Given the description of an element on the screen output the (x, y) to click on. 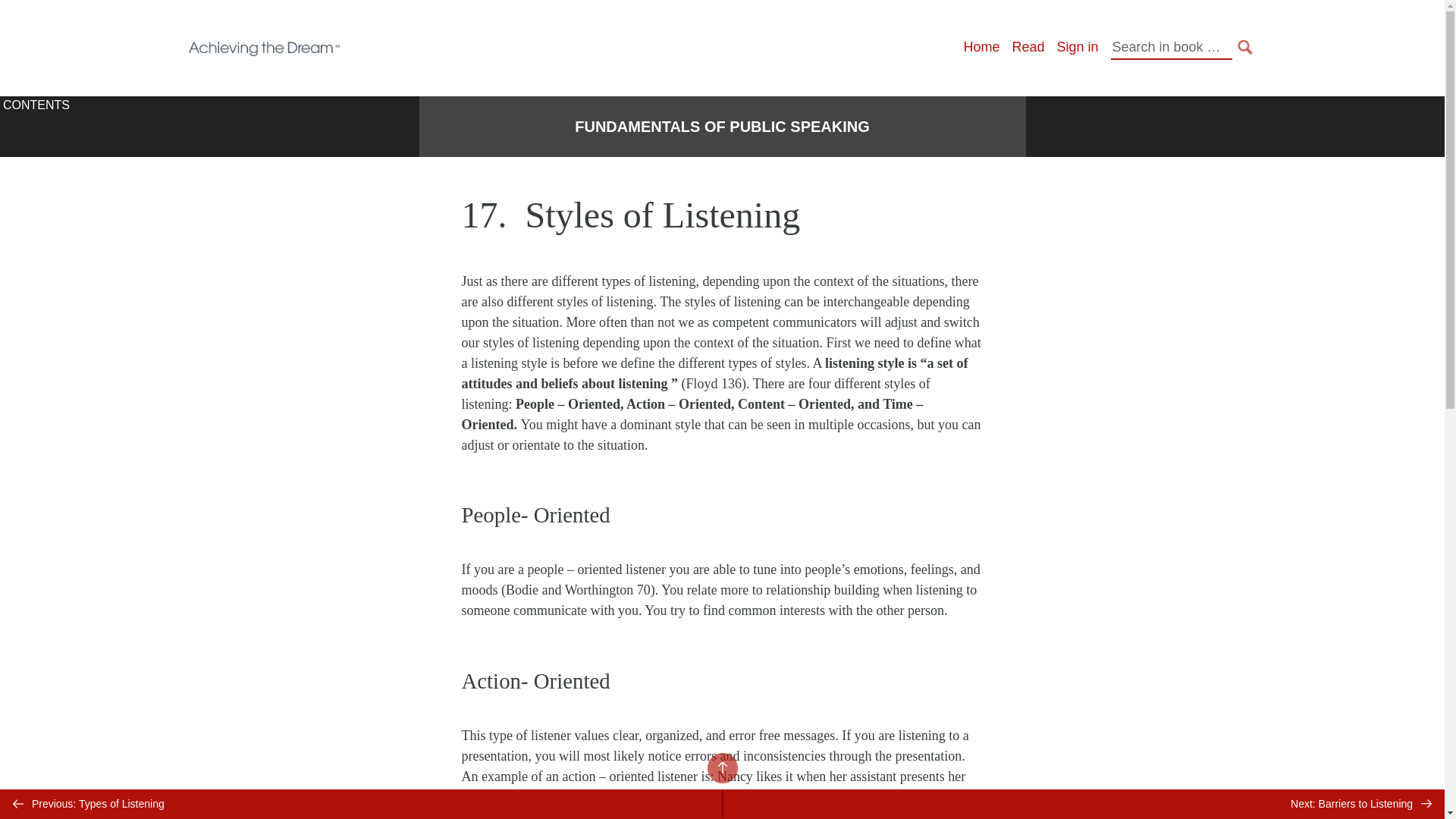
Sign in (1077, 46)
Read (1027, 46)
BACK TO TOP (721, 767)
Previous: Types of Listening (361, 804)
FUNDAMENTALS OF PUBLIC SPEAKING (722, 126)
Home (980, 46)
Previous: Types of Listening (361, 804)
